Given the description of an element on the screen output the (x, y) to click on. 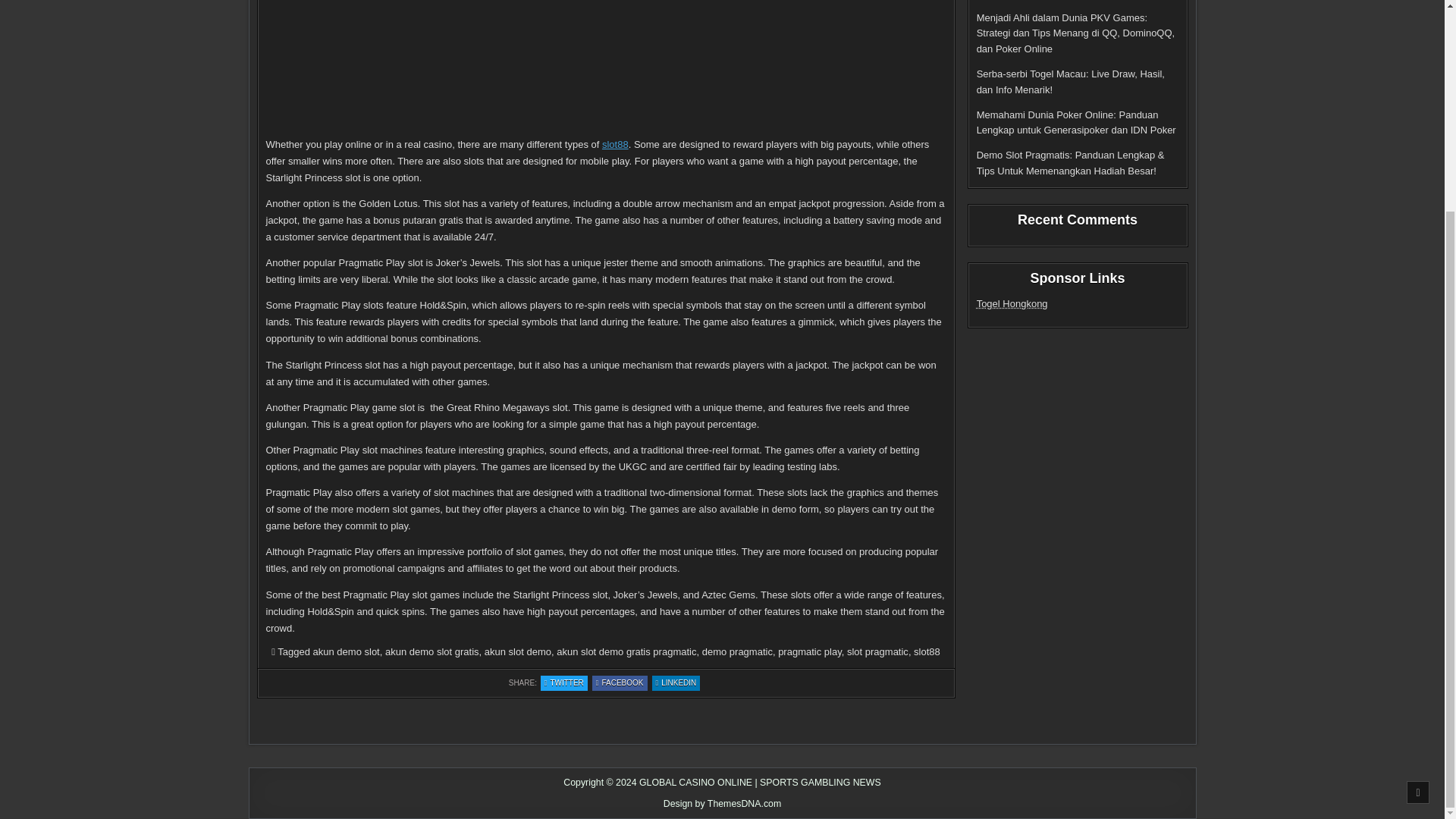
akun demo slot (619, 683)
slot pragmatic (346, 651)
Togel Hongkong (877, 651)
slot88 (1012, 303)
Serba-serbi Togel Macau: Live Draw, Hasil, dan Info Menarik! (615, 143)
Share this on Facebook : Play Pragmatic Play Slots Online (1070, 81)
Tweet This! : Play Pragmatic Play Slots Online (619, 683)
slot88 (564, 683)
SCROLL TO TOP (927, 651)
akun slot demo (1417, 517)
demo pragmatic (517, 651)
Design by ThemesDNA.com (737, 651)
